Given the description of an element on the screen output the (x, y) to click on. 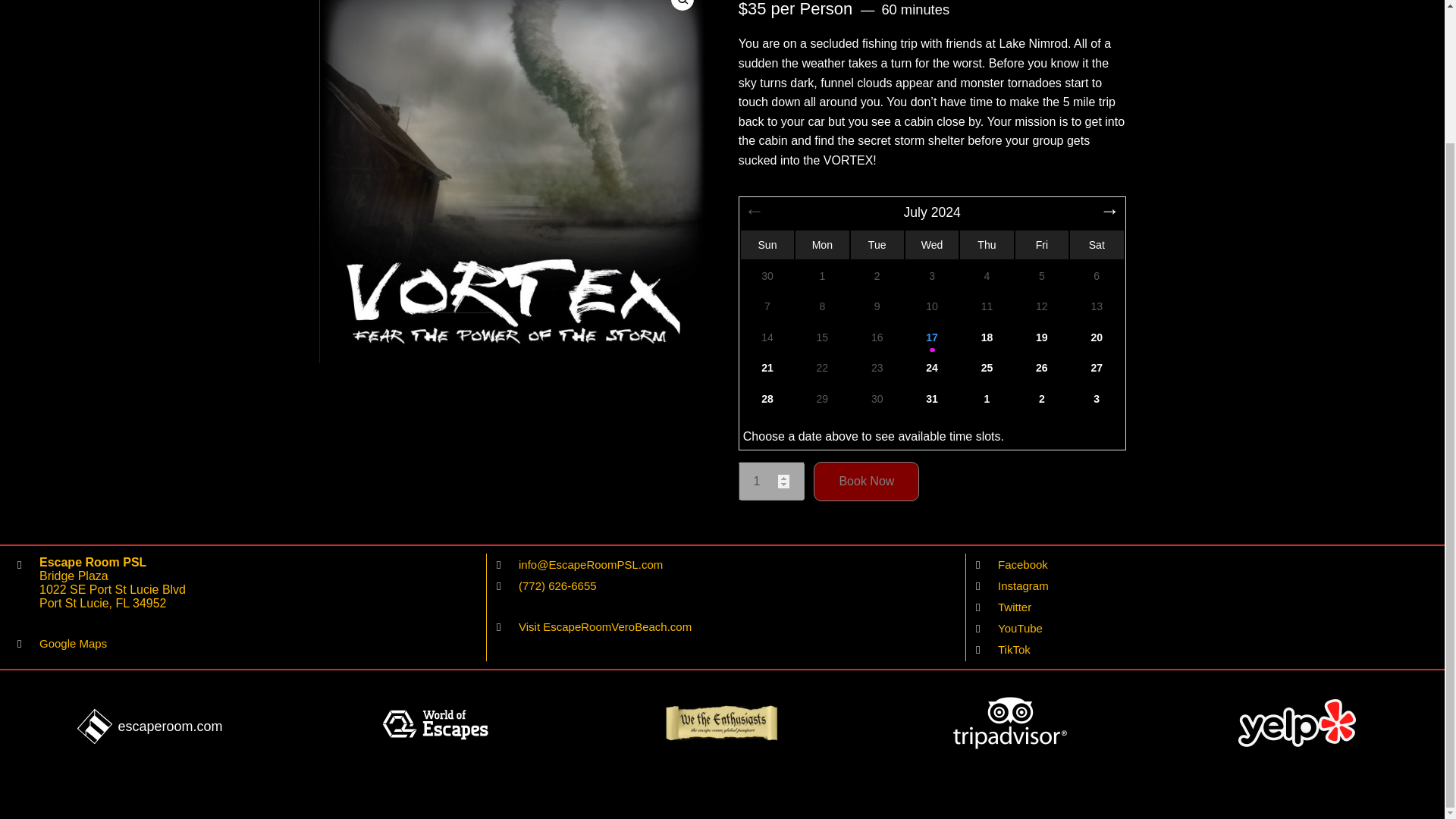
Previous (754, 212)
17 (931, 337)
Selected date is unavailable (821, 275)
Selected date is unavailable (986, 275)
Selected date is unavailable (1041, 275)
21 (767, 367)
Selected date is unavailable (931, 275)
Google Maps (72, 643)
Selected date is unavailable (877, 275)
Friday (1041, 244)
Book Now (865, 481)
18 (986, 337)
Selected date is unavailable (767, 275)
Sunday (766, 244)
19 (1041, 337)
